Given the description of an element on the screen output the (x, y) to click on. 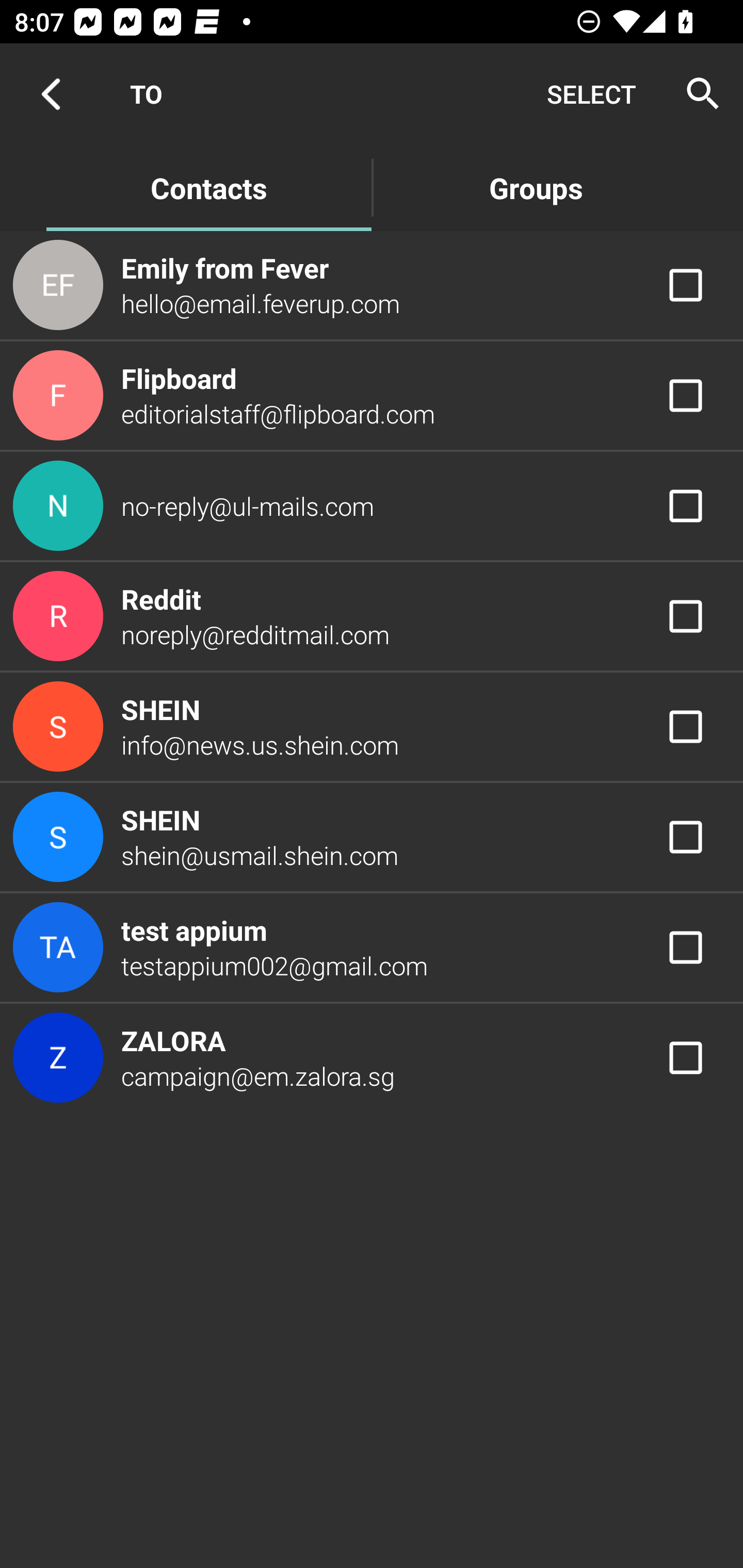
Navigate up (50, 93)
SELECT (590, 93)
Search (696, 93)
Contacts (208, 187)
Groups (535, 187)
Emily from Fever hello@email.feverup.com (371, 284)
Flipboard editorialstaff@flipboard.com (371, 395)
no-reply@ul-mails.com (371, 505)
Reddit noreply@redditmail.com (371, 616)
SHEIN info@news.us.shein.com (371, 726)
SHEIN shein@usmail.shein.com (371, 836)
test appium testappium002@gmail.com (371, 947)
ZALORA campaign@em.zalora.sg (371, 1057)
